Given the description of an element on the screen output the (x, y) to click on. 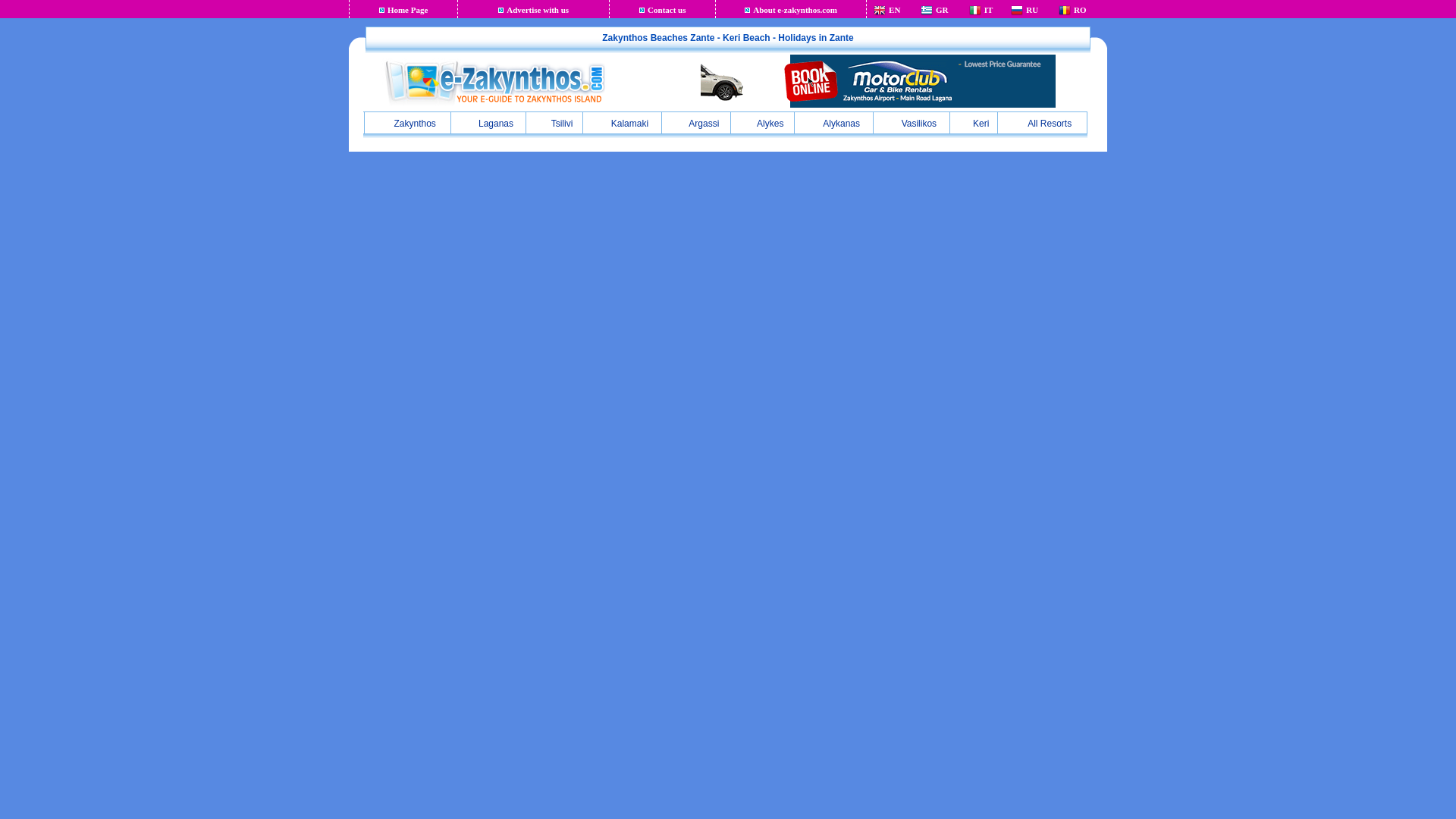
EN (893, 9)
Zante Zakynthos Alykes (762, 123)
Contact e-Zakynthos - Zanteweb.gr (666, 9)
Zakynthos Argassi (695, 123)
Alykanas (834, 123)
Alykes (762, 123)
Argassi (695, 123)
Keri (973, 123)
Zante Island Laganas (488, 123)
Keri Lake Zante (973, 123)
